Given the description of an element on the screen output the (x, y) to click on. 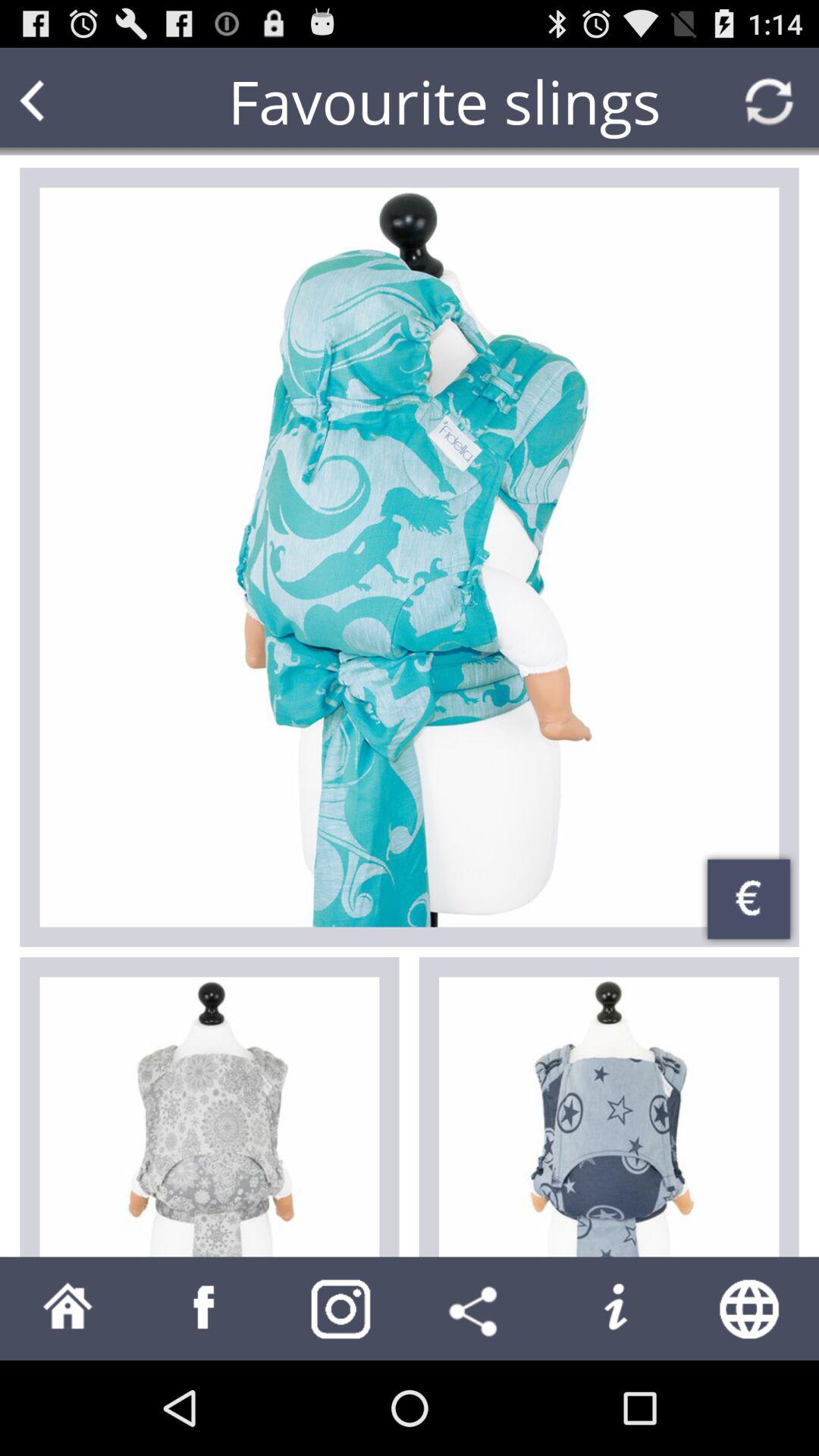
press item at the top right corner (769, 101)
